Given the description of an element on the screen output the (x, y) to click on. 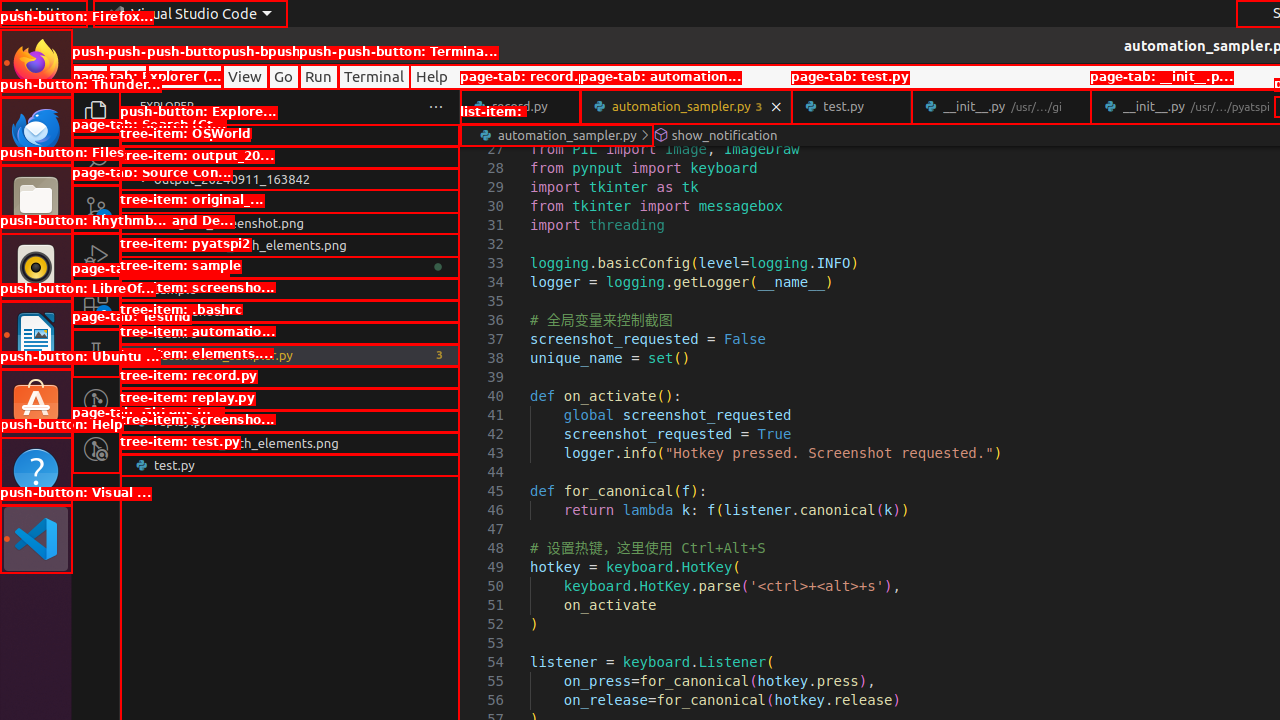
Firefox Web Browser Element type: push-button (36, 63)
test.py Element type: page-tab (851, 106)
Run and Debug (Ctrl+Shift+D) Element type: page-tab (96, 257)
automation_sampler.py Element type: page-tab (686, 106)
record.py Element type: tree-item (289, 399)
